Given the description of an element on the screen output the (x, y) to click on. 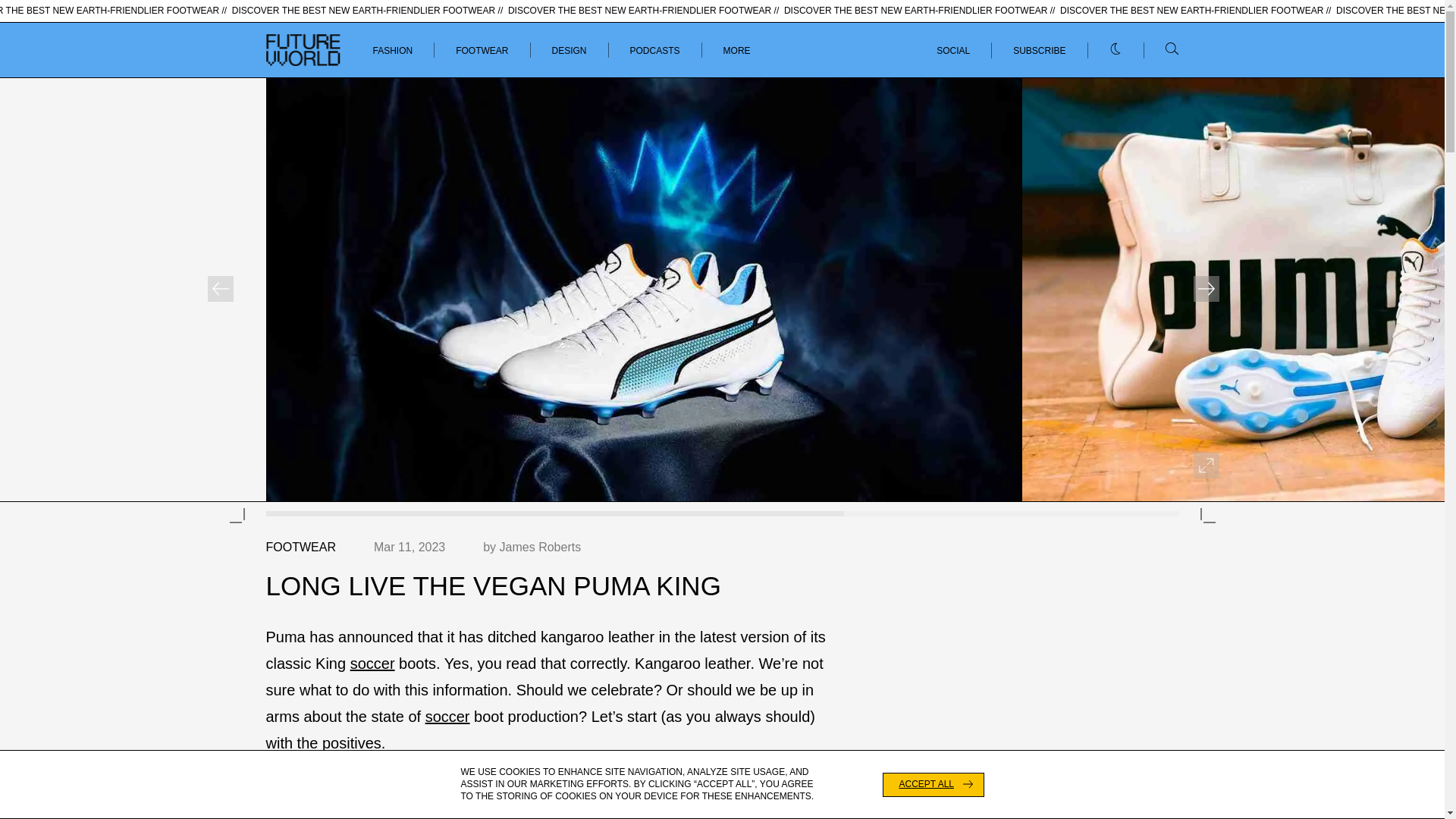
PODCASTS (654, 50)
LINKEDIN (1080, 63)
SUBMIT (1153, 63)
EARTH (279, 63)
SEARCH (1151, 63)
FOOTWEAR (481, 50)
FOOTWEAR (299, 546)
FASHION (392, 50)
DESIGN (568, 50)
SPORTS (341, 63)
MEMO (400, 63)
ART (450, 63)
SUBSCRIBE (1039, 50)
INSTAGRAM (1006, 63)
FACEBOOK (1152, 63)
